Given the description of an element on the screen output the (x, y) to click on. 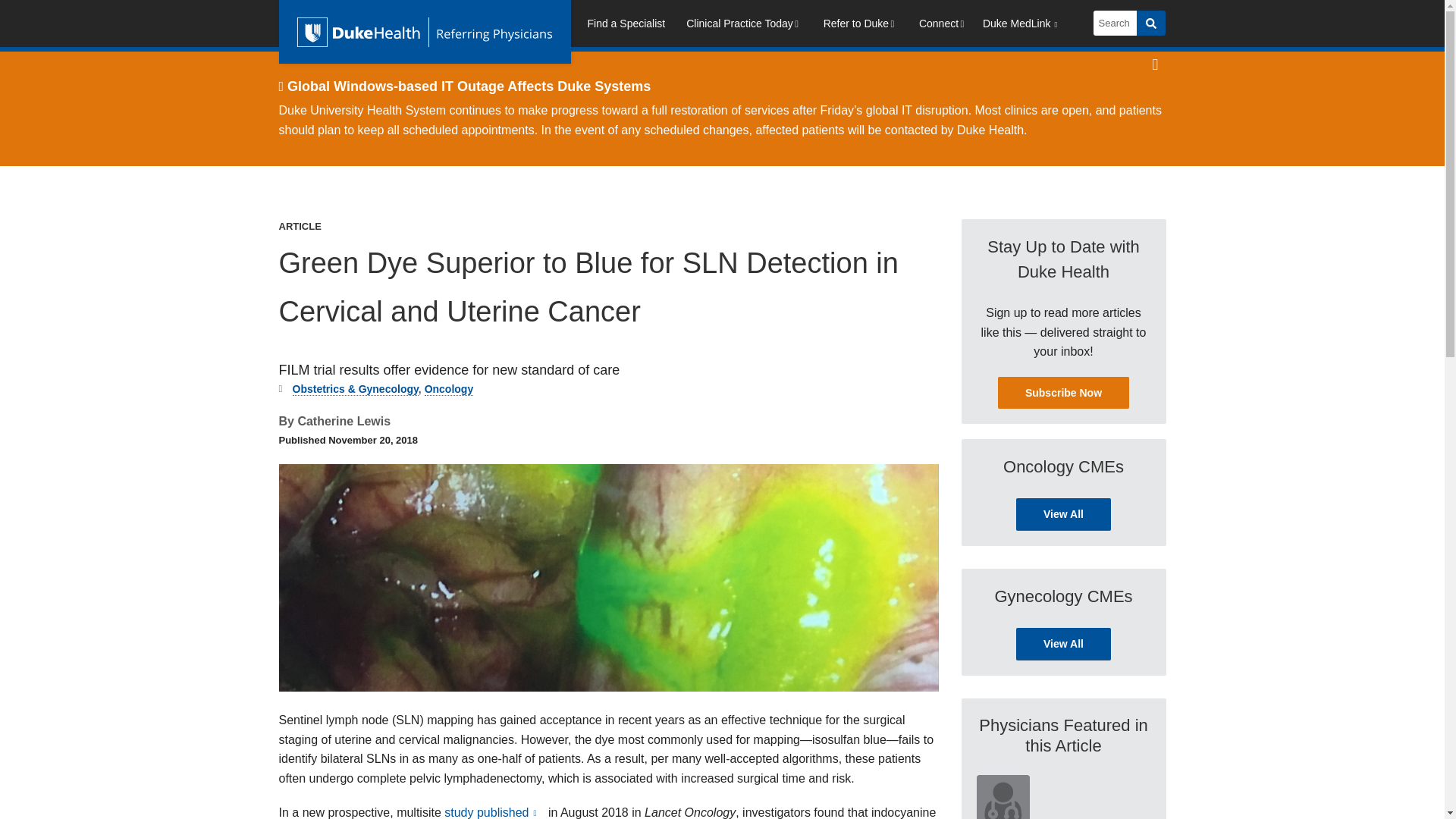
Duke Health Referring Physicians Home (424, 31)
Duke Health Referring Physicians (424, 31)
Find a Specialist (625, 25)
Clinical Practice Today (743, 25)
Connect (943, 25)
Refer to Duke (860, 25)
